Given the description of an element on the screen output the (x, y) to click on. 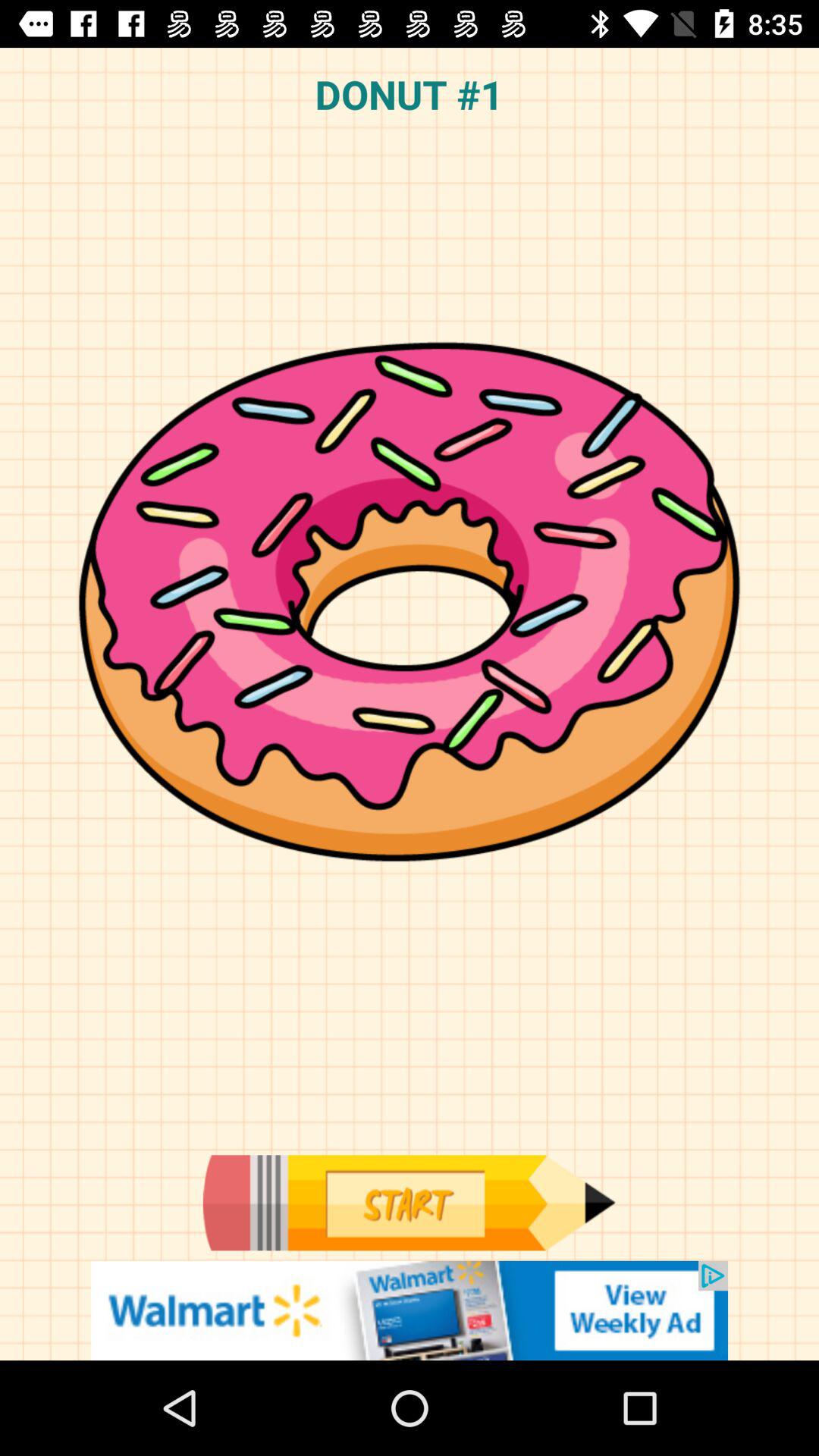
start button (409, 1202)
